Given the description of an element on the screen output the (x, y) to click on. 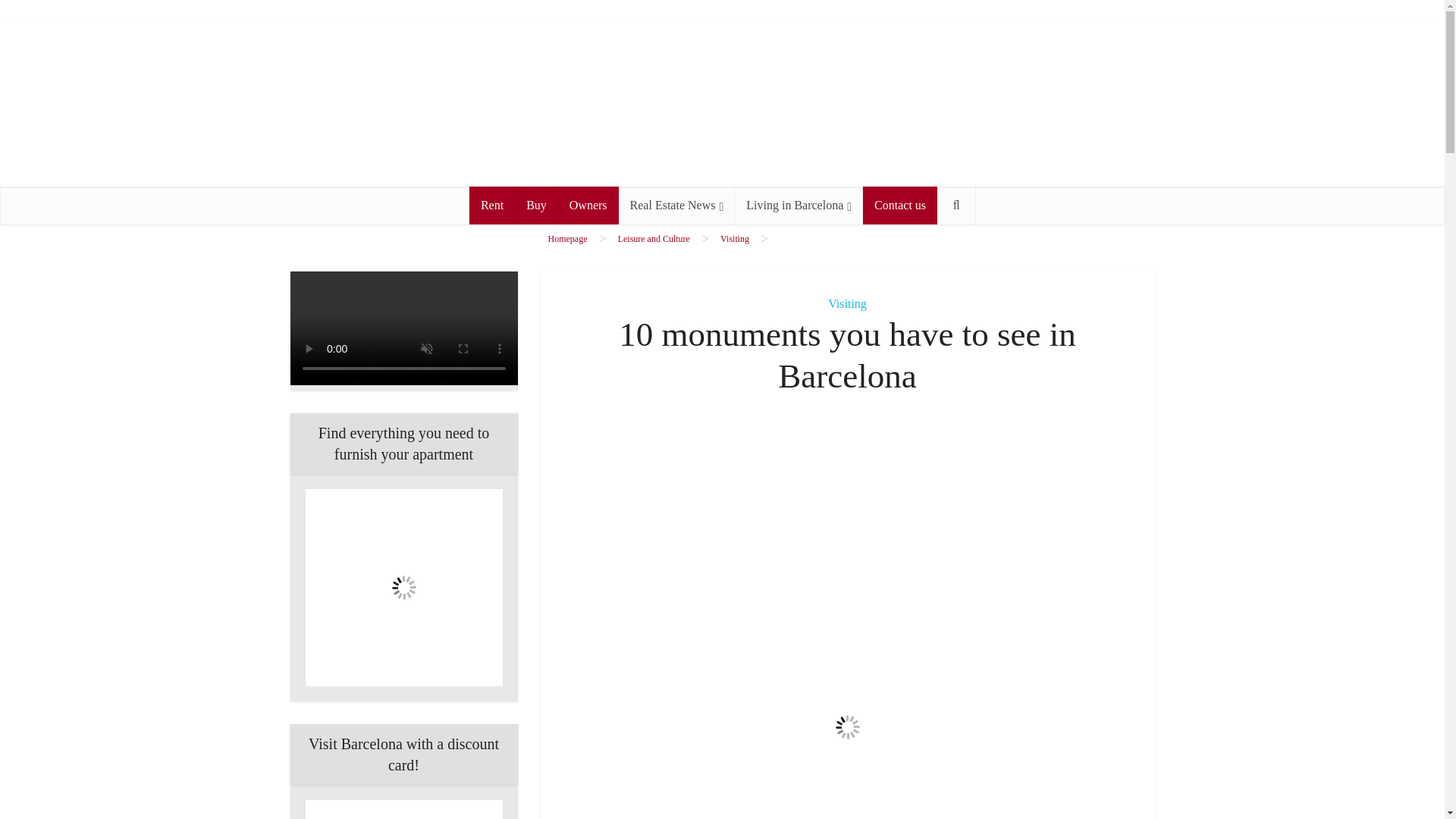
Homepage (566, 238)
Rent (491, 205)
Visiting (734, 238)
Barcelona City Pass (403, 809)
Living in Barcelona (799, 205)
Buy (536, 205)
Contact us (900, 205)
Leisure and Culture (653, 238)
Real Estate News (676, 205)
Owners (587, 205)
Homepage (566, 238)
